Given the description of an element on the screen output the (x, y) to click on. 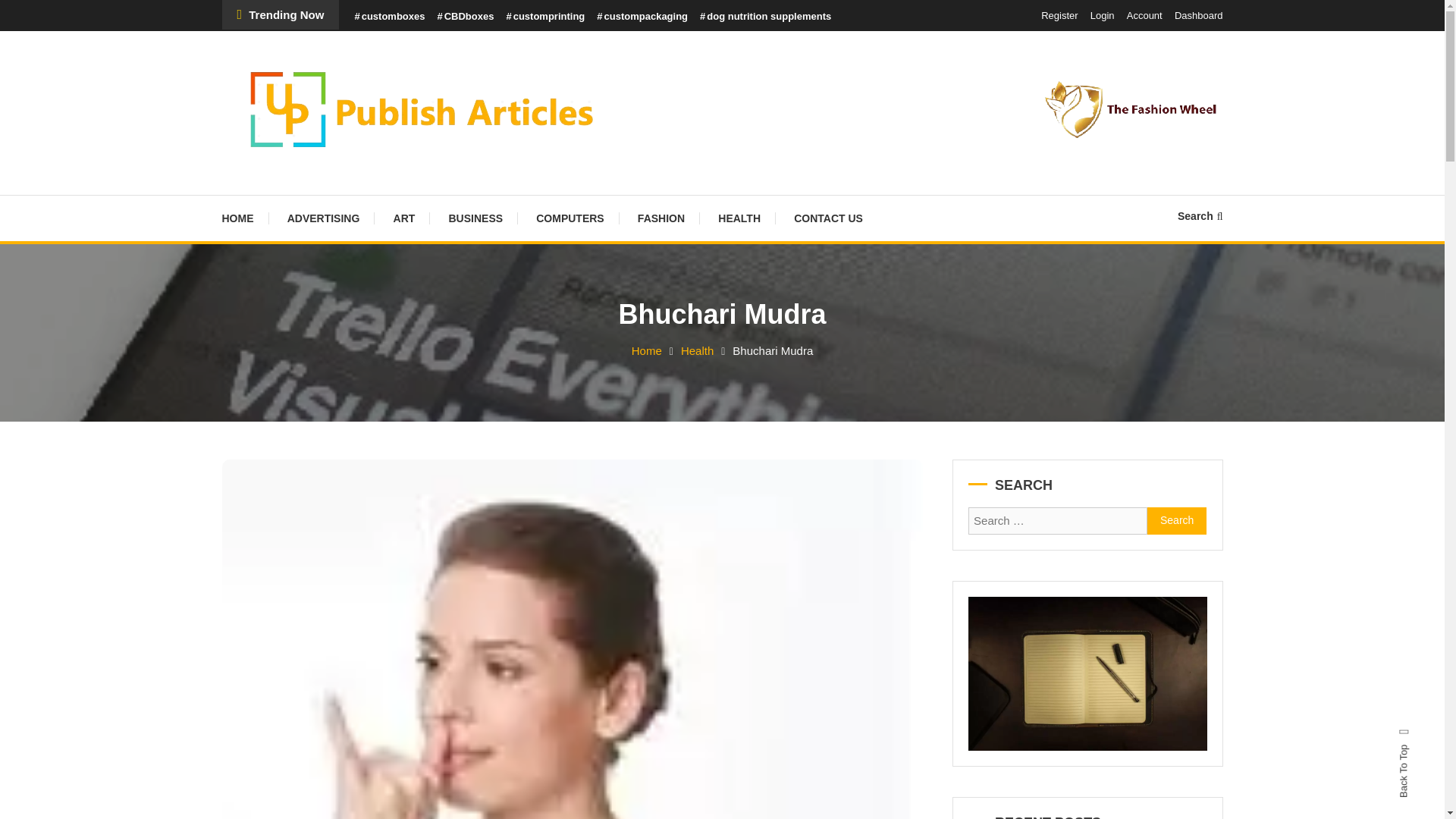
HEALTH (739, 217)
Login (1102, 15)
COMPUTERS (569, 217)
customboxes (389, 16)
custompackaging (641, 16)
dog nutrition supplements (765, 16)
CONTACT US (827, 217)
customprinting (545, 16)
Register (1059, 15)
BUSINESS (475, 217)
Dashboard (1198, 15)
Health (697, 350)
Search (1200, 215)
CBDboxes (464, 16)
FASHION (661, 217)
